Given the description of an element on the screen output the (x, y) to click on. 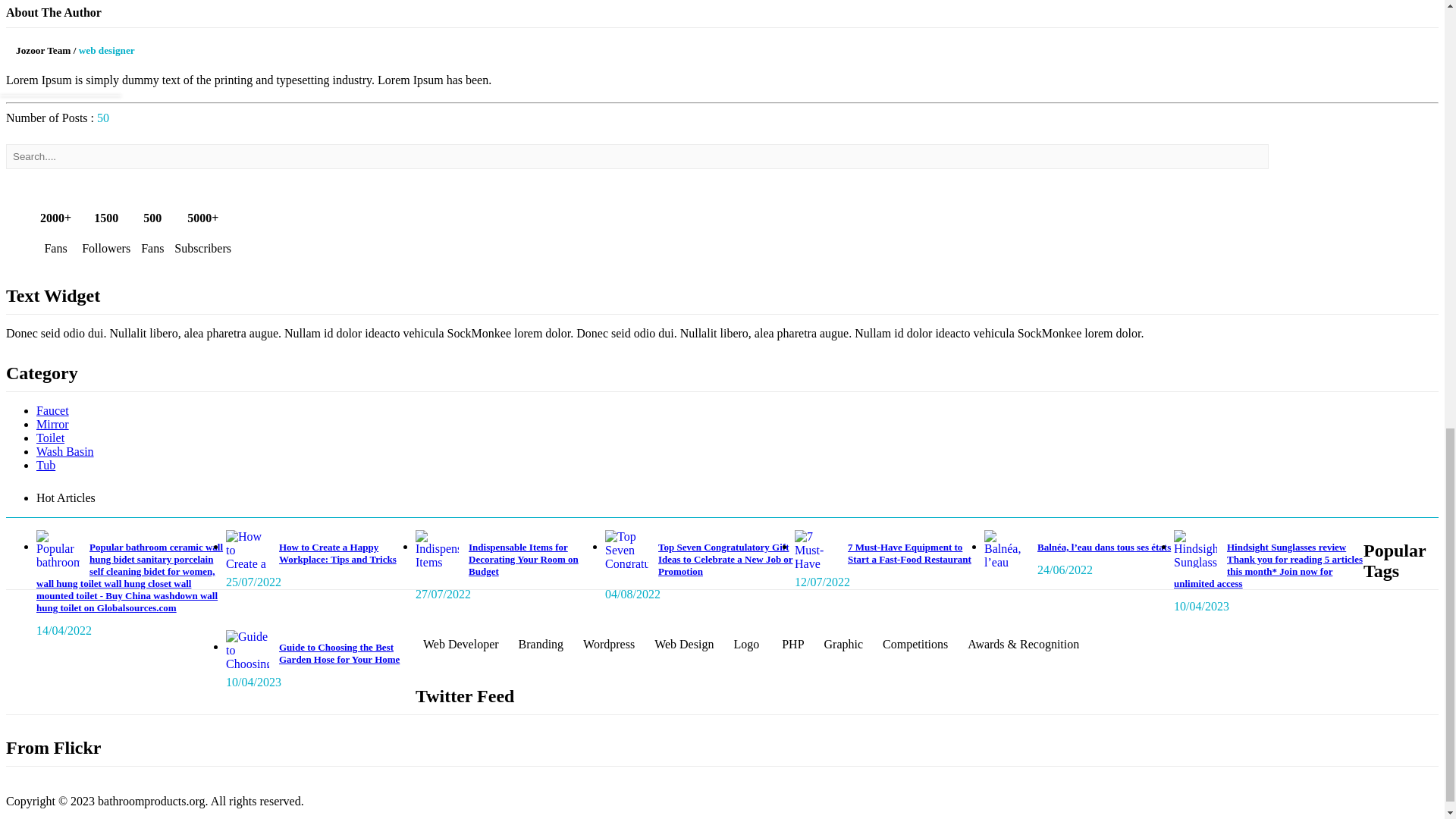
Faucet (52, 410)
Tub (45, 464)
How to Create a Happy Workplace: Tips and Tricks (337, 553)
Toilet (50, 437)
How to Create a Happy Workplace: Tips and Tricks (247, 548)
Mirror (52, 423)
Indispensable Items for Decorating Your Room on Budget (523, 559)
Tub (45, 464)
How to Create a Happy Workplace: Tips and Tricks (337, 553)
